Given the description of an element on the screen output the (x, y) to click on. 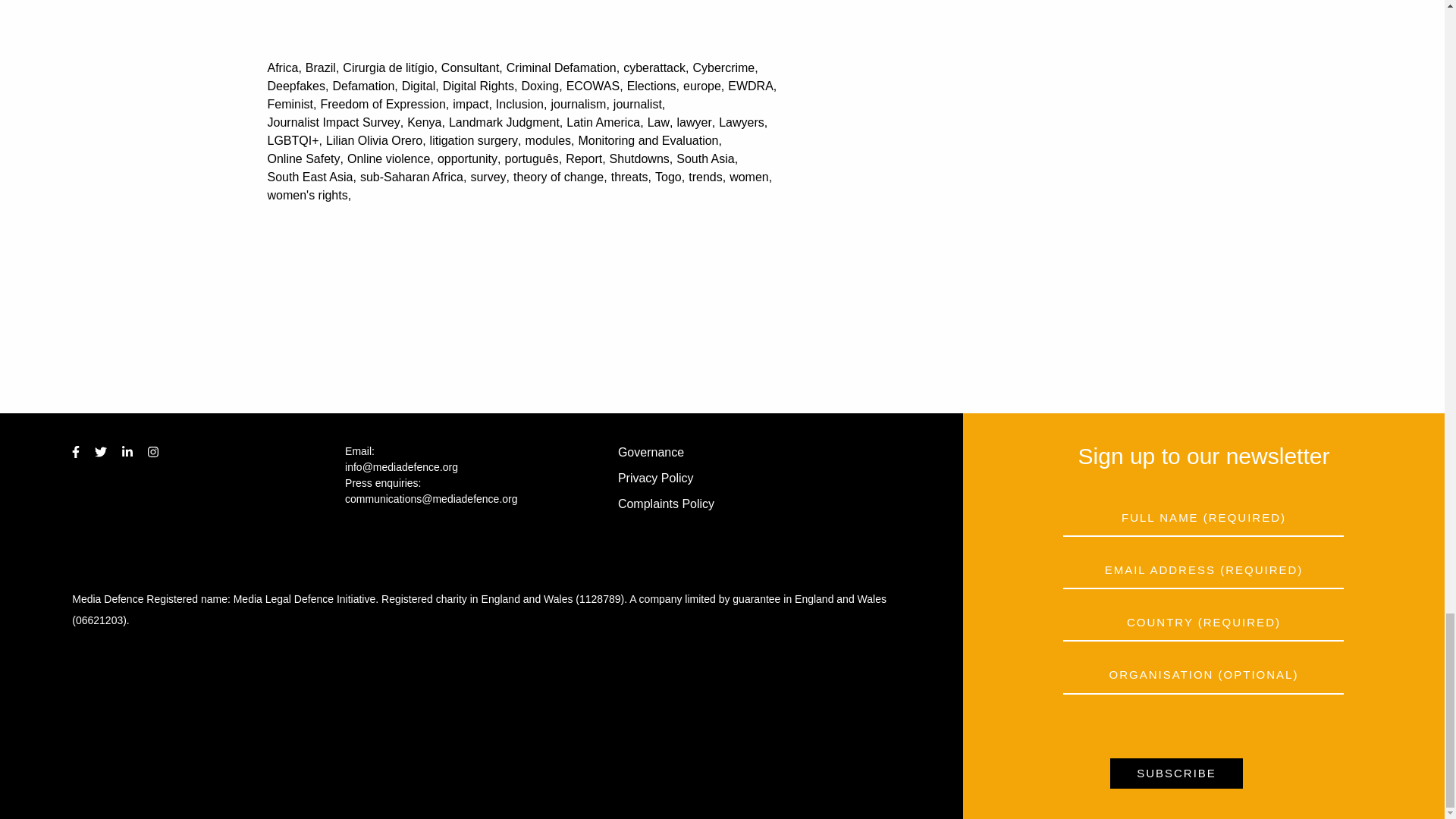
Subscribe (1176, 773)
